Given the description of an element on the screen output the (x, y) to click on. 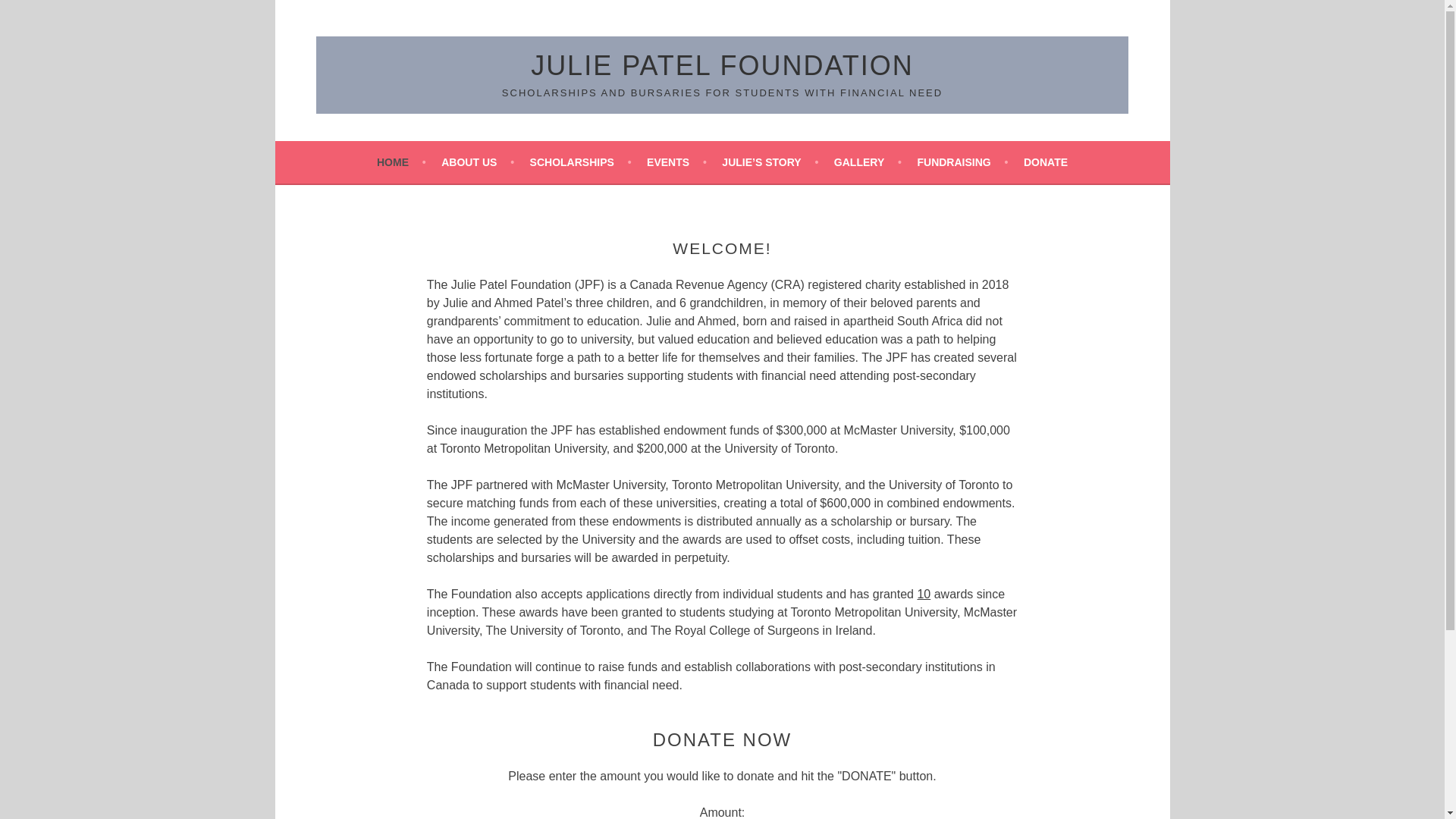
Julie Patel Foundation (722, 65)
GALLERY (867, 162)
ABOUT US (477, 162)
JULIE PATEL FOUNDATION (722, 65)
SCHOLARSHIPS (580, 162)
HOME (401, 162)
FUNDRAISING (962, 162)
DONATE (1045, 162)
